Given the description of an element on the screen output the (x, y) to click on. 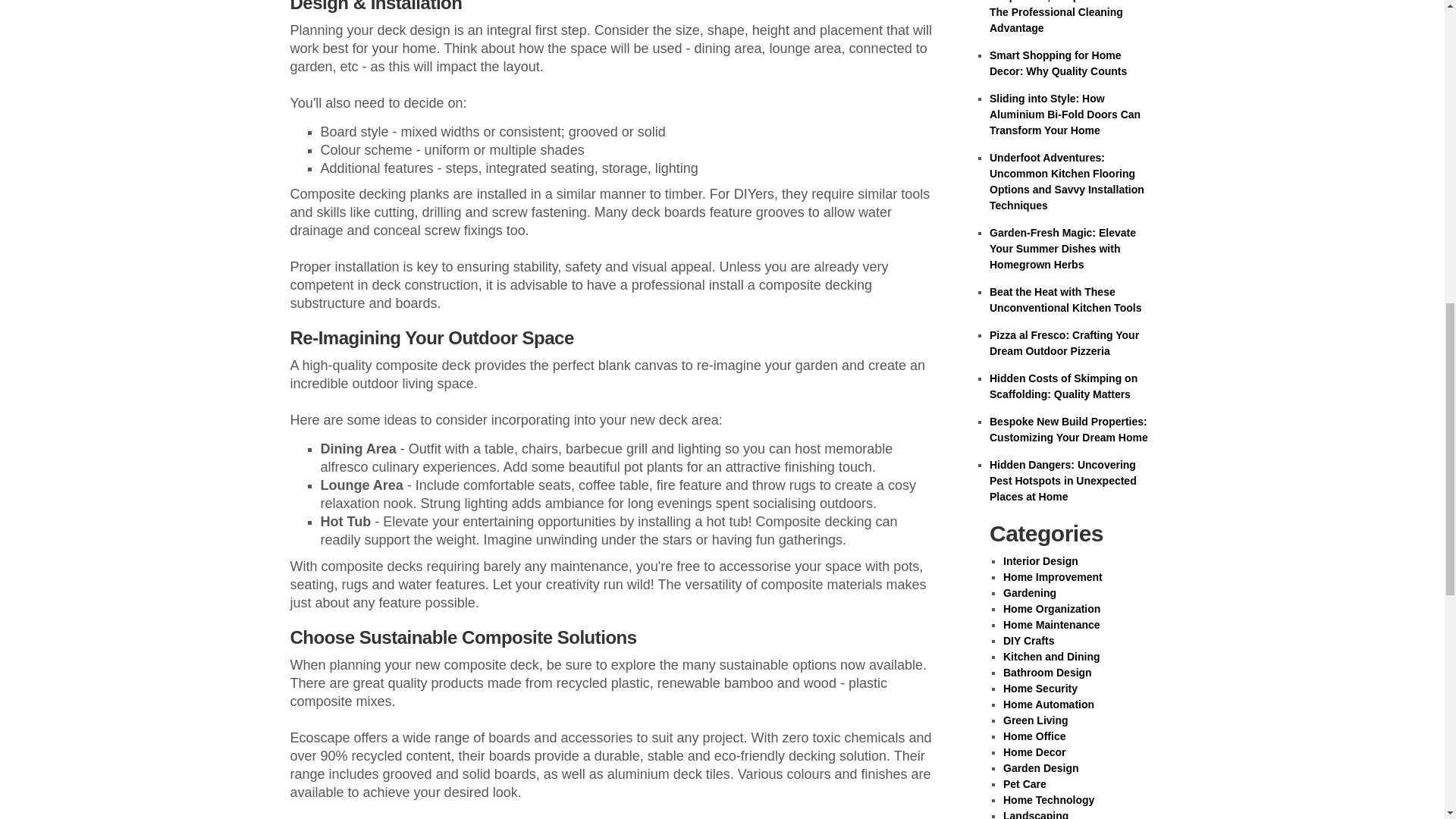
Bespoke New Build Properties: Customizing Your Dream Home (1069, 429)
Hidden Costs of Skimping on Scaffolding: Quality Matters (1063, 386)
Gardening (1030, 592)
Beat the Heat with These Unconventional Kitchen Tools (1065, 299)
Home Improvement (1052, 576)
DIY Crafts (1028, 640)
Kitchen and Dining (1051, 656)
Home Maintenance (1051, 624)
Home Security (1040, 688)
Smart Shopping for Home Decor: Why Quality Counts (1058, 62)
